Given the description of an element on the screen output the (x, y) to click on. 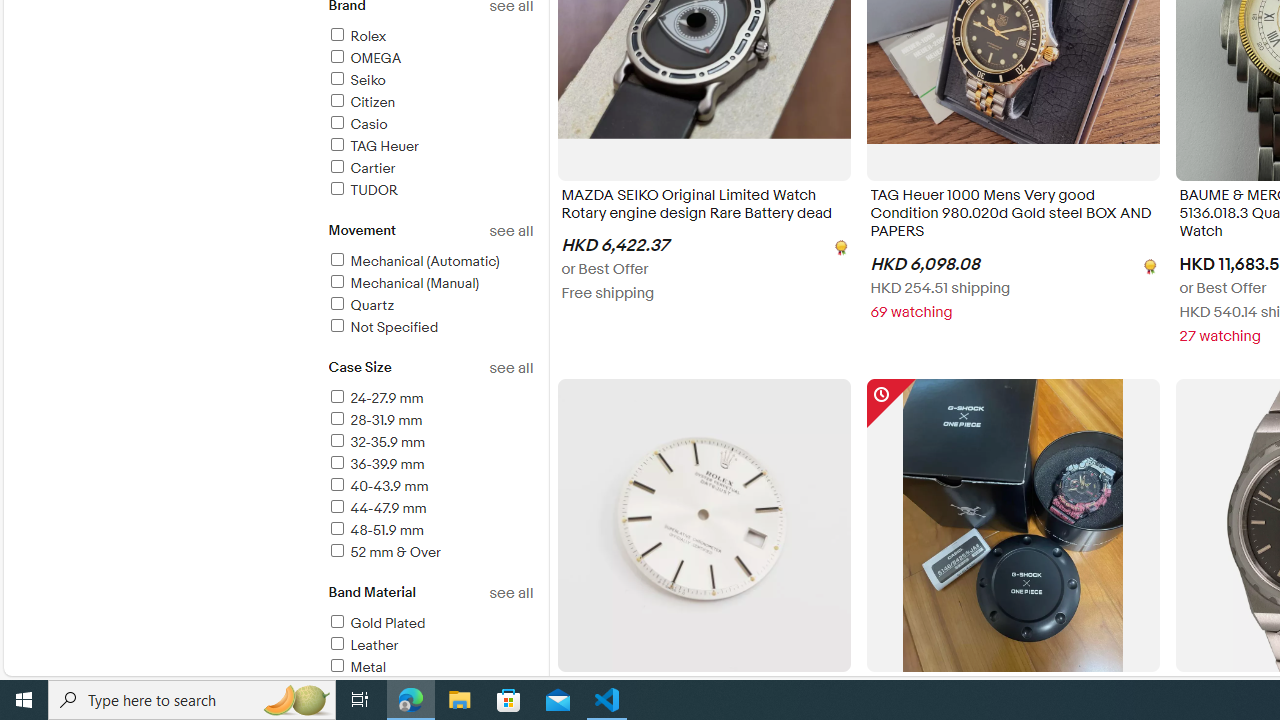
TAG Heuer (372, 146)
Not Specified (382, 327)
Metal (430, 668)
See all case size refinements (510, 368)
TUDOR (362, 190)
Mechanical (Manual) (430, 284)
OMEGA (363, 57)
52 mm & Over (430, 553)
32-35.9 mm (430, 443)
Mechanical (Automatic) (430, 262)
32-35.9 mm (376, 442)
28-31.9 mm (430, 421)
